Given the description of an element on the screen output the (x, y) to click on. 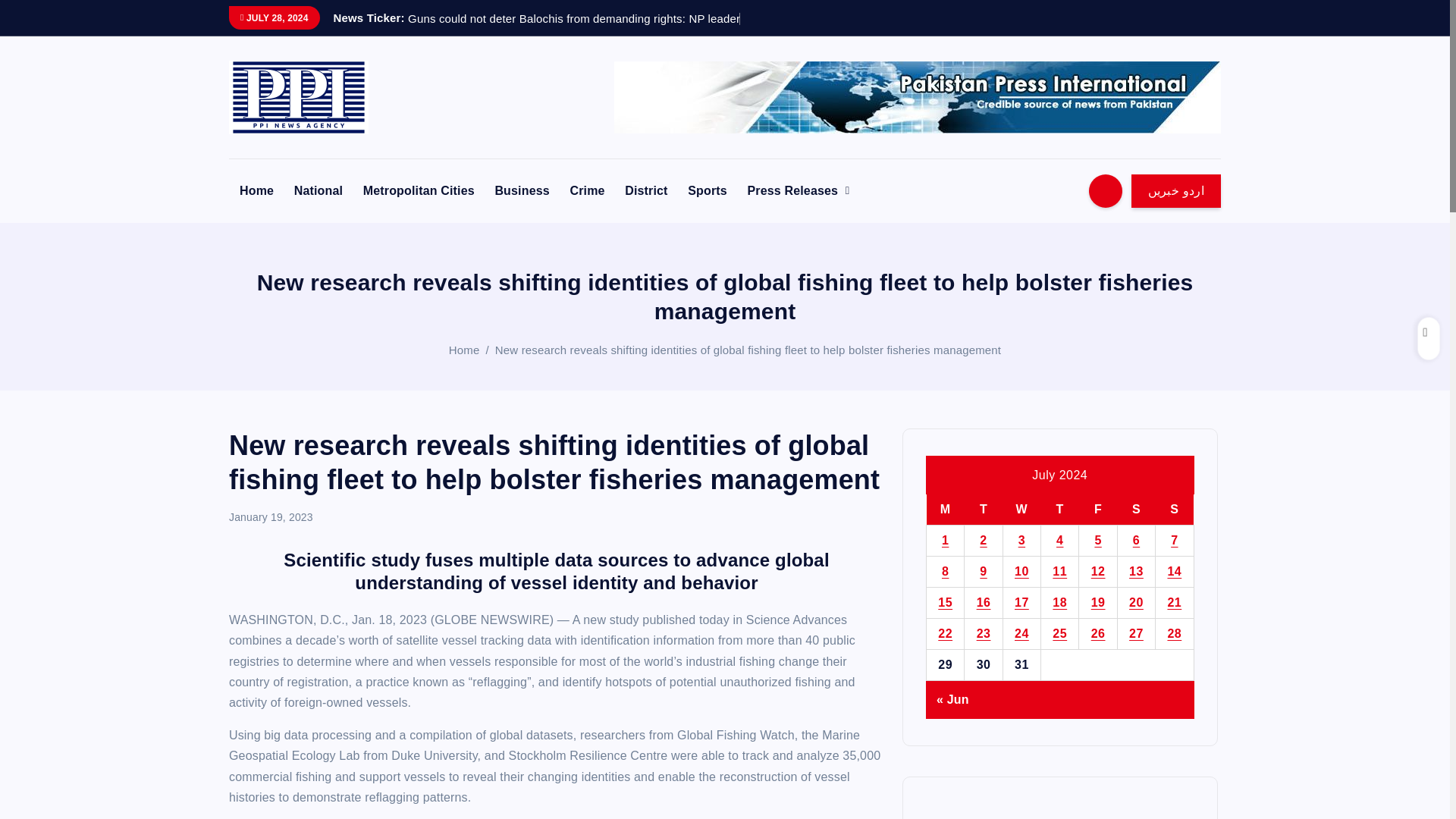
Metropolitan Cities (418, 190)
Home (255, 190)
Press Releases (798, 190)
Sports (707, 190)
Home (464, 349)
District (646, 190)
Crime (586, 190)
Metropolitan Cities (418, 190)
District (646, 190)
National (318, 190)
National (318, 190)
Business (521, 190)
Home (255, 190)
Sports (707, 190)
